Given the description of an element on the screen output the (x, y) to click on. 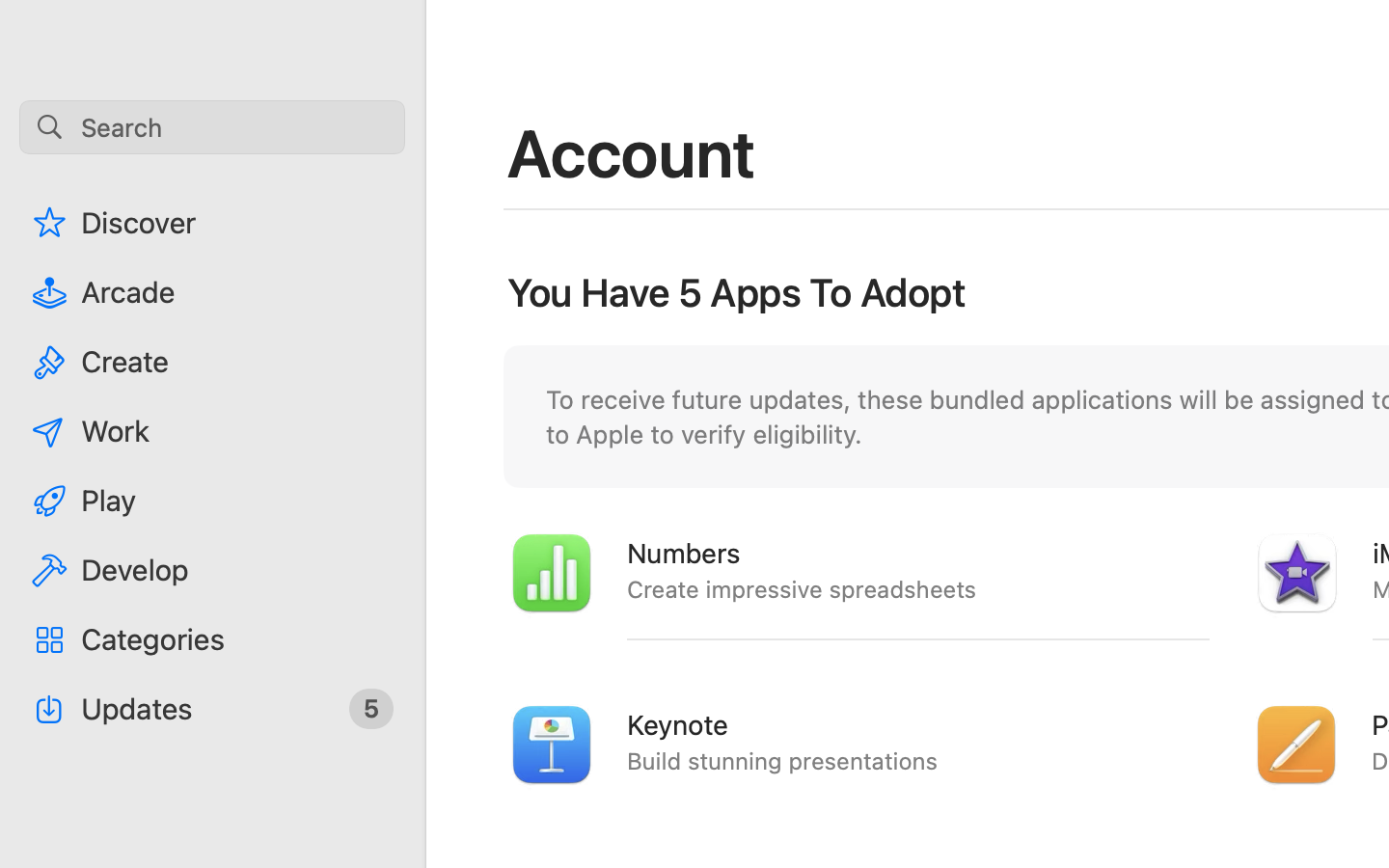
You Have 5 Apps To Adopt Element type: AXStaticText (736, 293)
Account Element type: AXStaticText (632, 151)
